Given the description of an element on the screen output the (x, y) to click on. 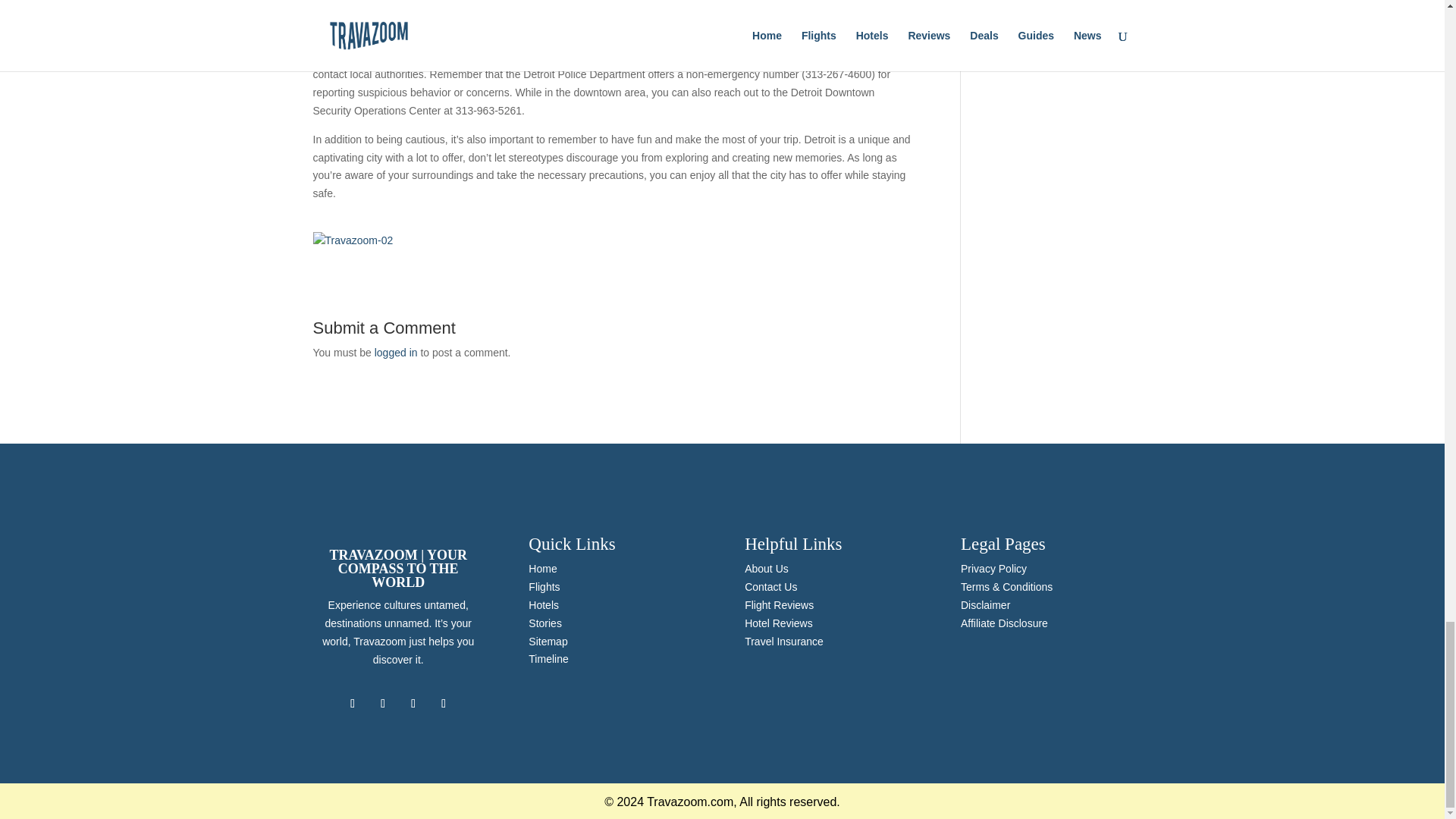
Timeline (547, 658)
Home (542, 568)
Follow on Pinterest (442, 703)
Contact Us (770, 586)
Follow on Instagram (413, 703)
Flight Reviews (778, 604)
logged in (395, 352)
Hotel Reviews (778, 623)
Follow on Facebook (352, 703)
Privacy Policy (993, 568)
Sitemap (547, 641)
Follow on X (382, 703)
Travel Insurance (784, 641)
Stories (545, 623)
About Us (766, 568)
